Given the description of an element on the screen output the (x, y) to click on. 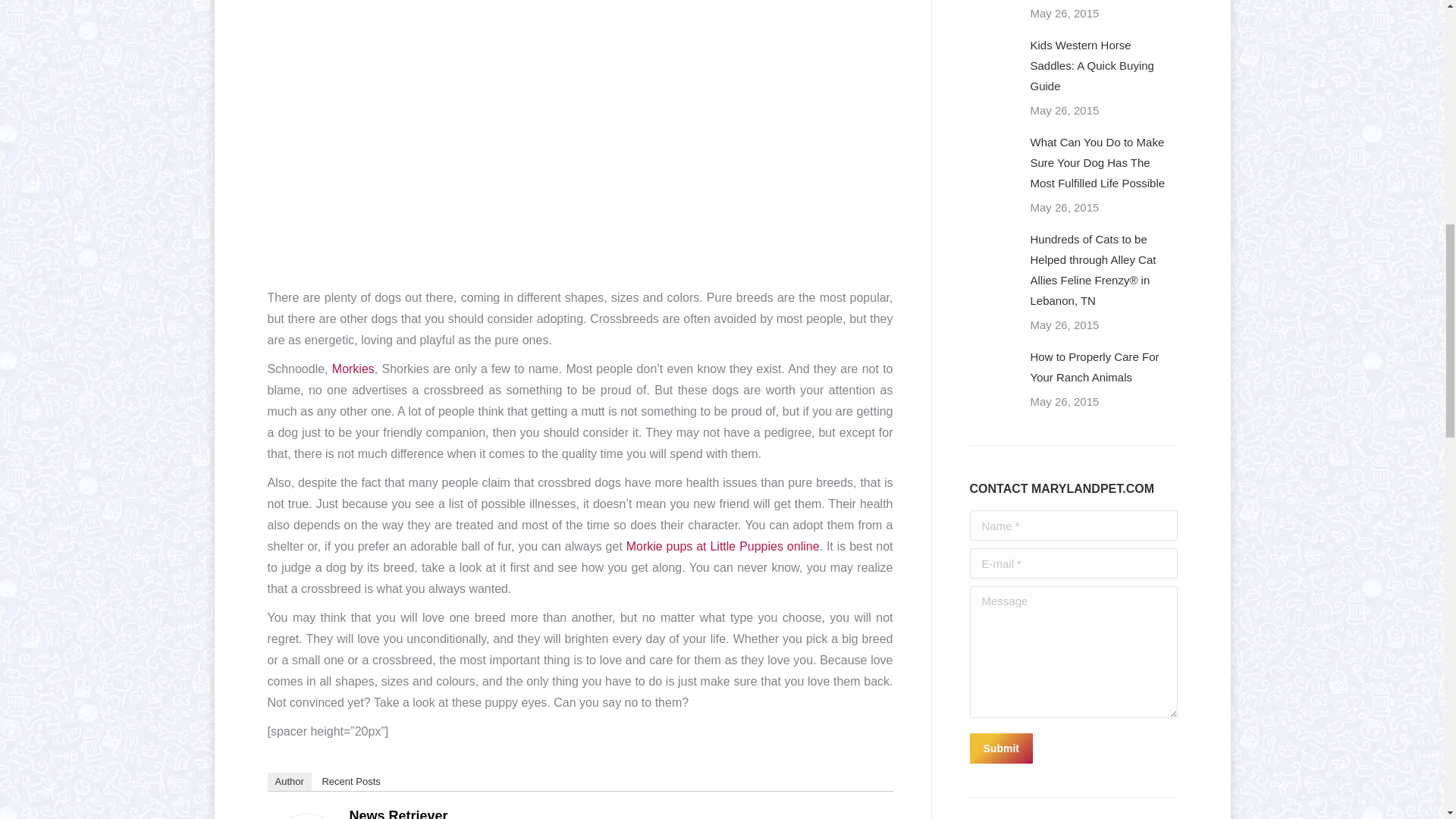
submit (1073, 749)
